Given the description of an element on the screen output the (x, y) to click on. 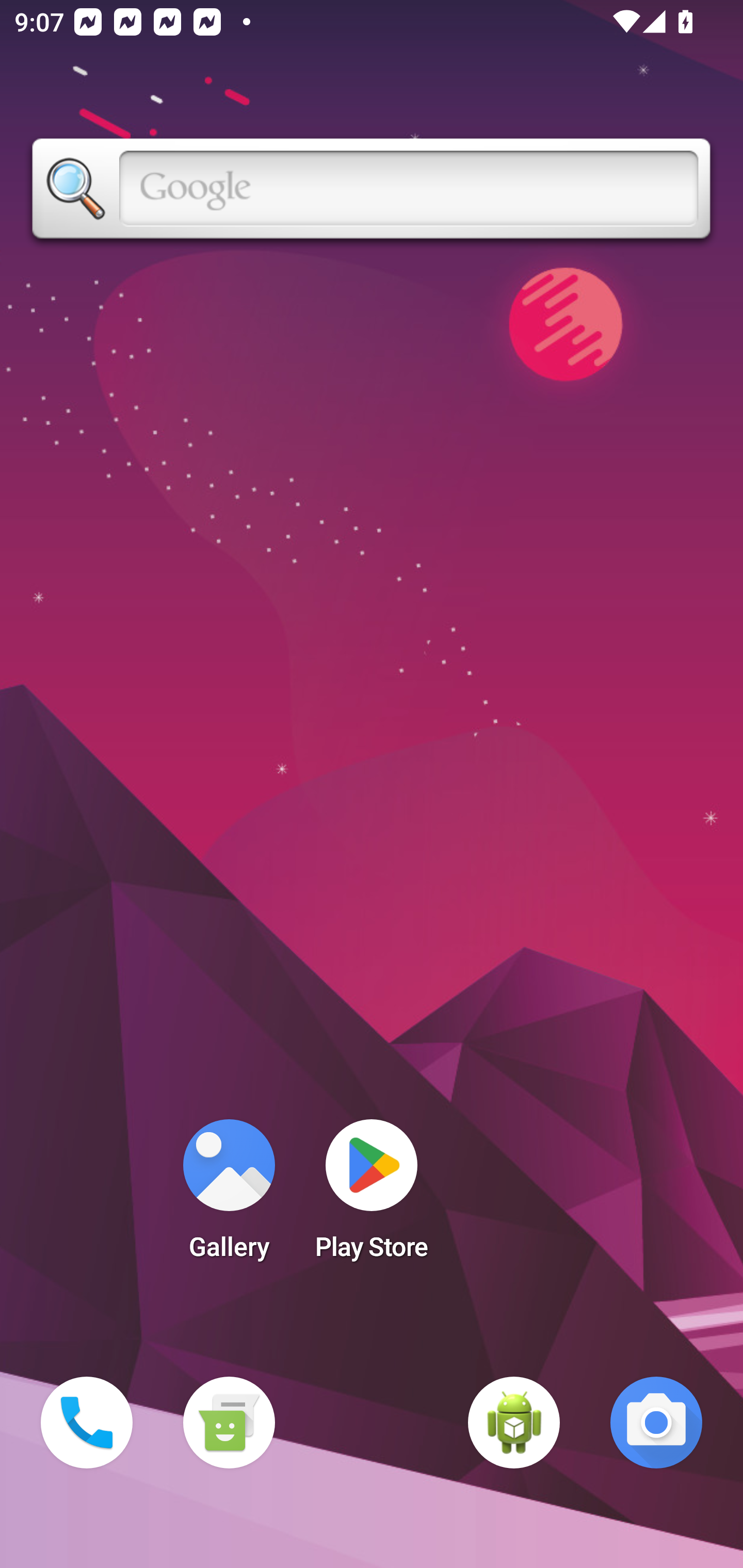
Gallery (228, 1195)
Play Store (371, 1195)
Phone (86, 1422)
Messaging (228, 1422)
WebView Browser Tester (513, 1422)
Camera (656, 1422)
